Given the description of an element on the screen output the (x, y) to click on. 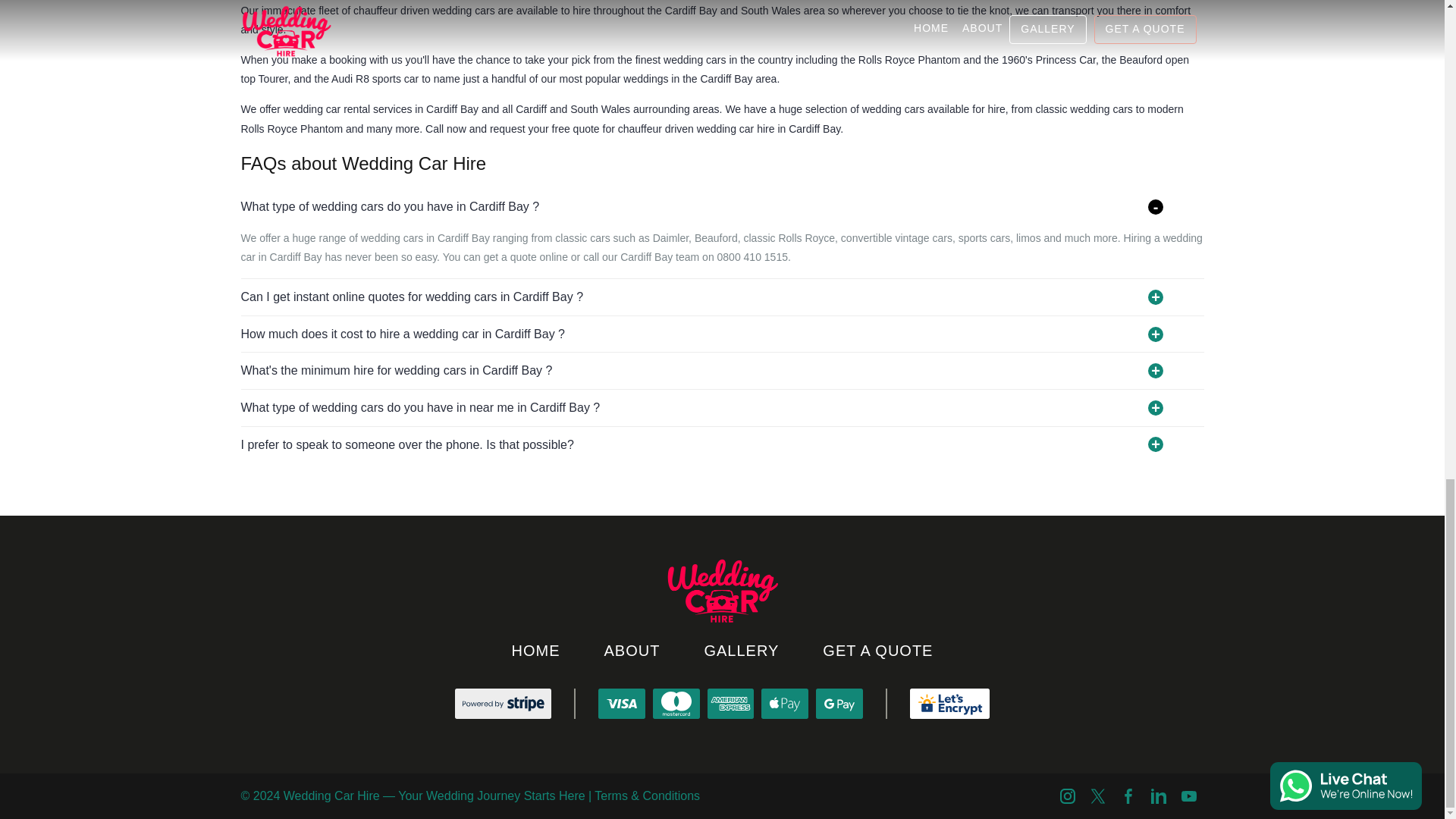
HOME (536, 650)
GALLERY (741, 650)
ABOUT (631, 650)
GET A QUOTE (877, 650)
